Given the description of an element on the screen output the (x, y) to click on. 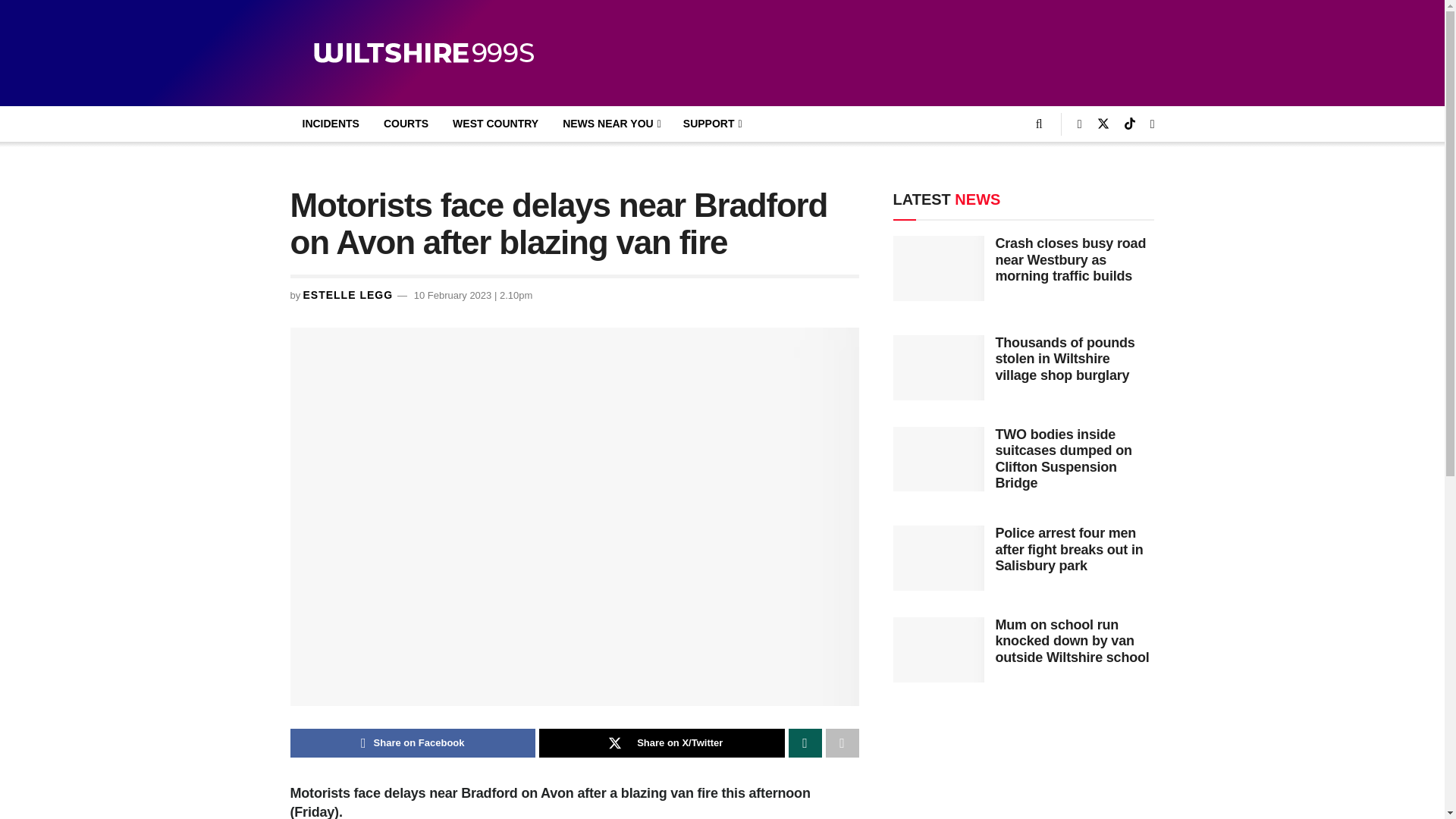
WEST COUNTRY (495, 123)
INCIDENTS (330, 123)
NEWS NEAR YOU (610, 123)
COURTS (406, 123)
ESTELLE LEGG (347, 295)
SUPPORT (711, 123)
Share on Facebook (412, 742)
